Given the description of an element on the screen output the (x, y) to click on. 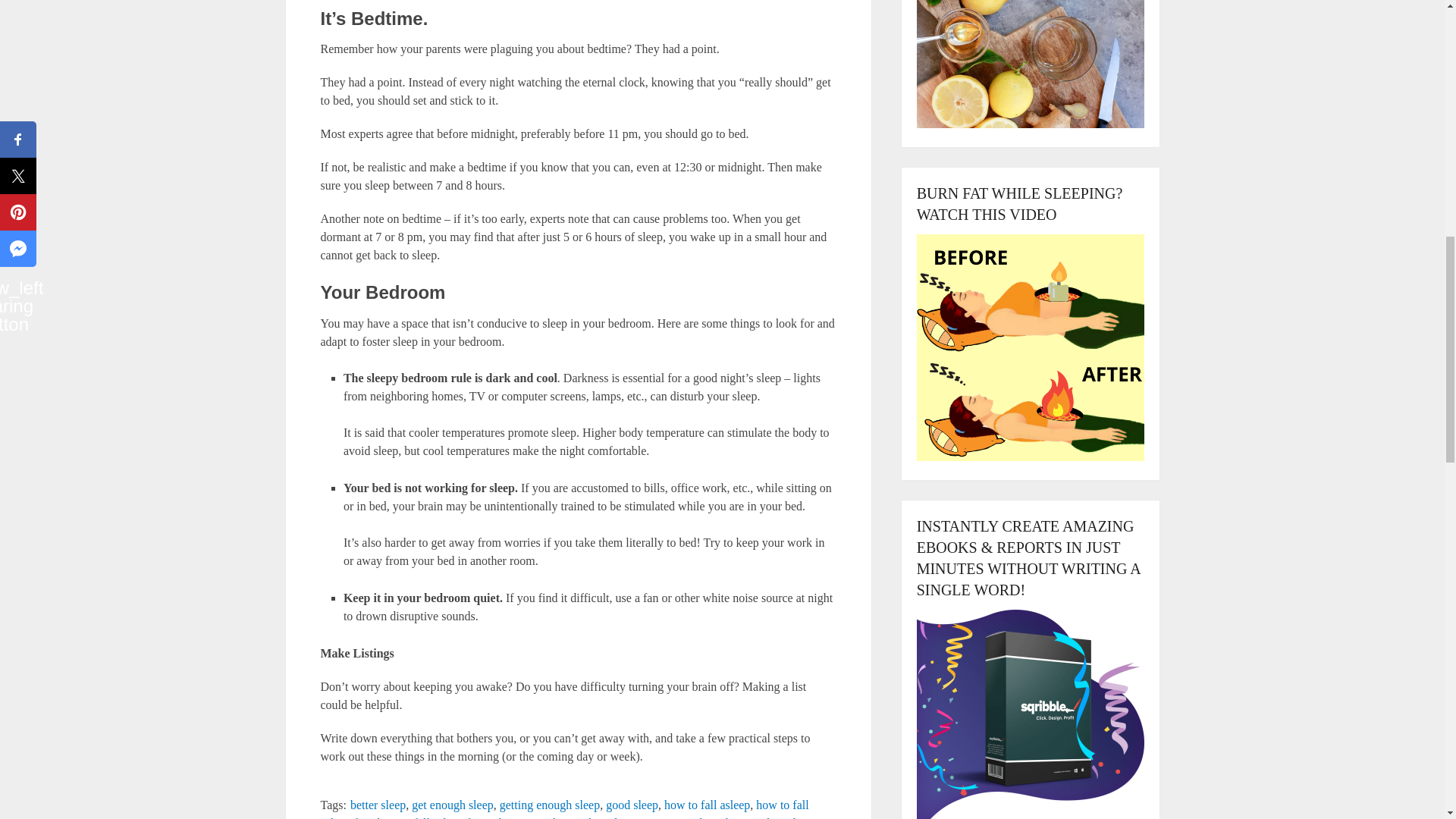
get enough sleep (452, 804)
getting enough sleep (549, 804)
how to fall asleep fast (564, 808)
better sleep (378, 804)
how to fall asleep faster (435, 817)
how to sleep (756, 817)
how to fall asleep (706, 804)
how to get better sleep (553, 817)
how to improve sleep (666, 817)
good sleep (631, 804)
